Given the description of an element on the screen output the (x, y) to click on. 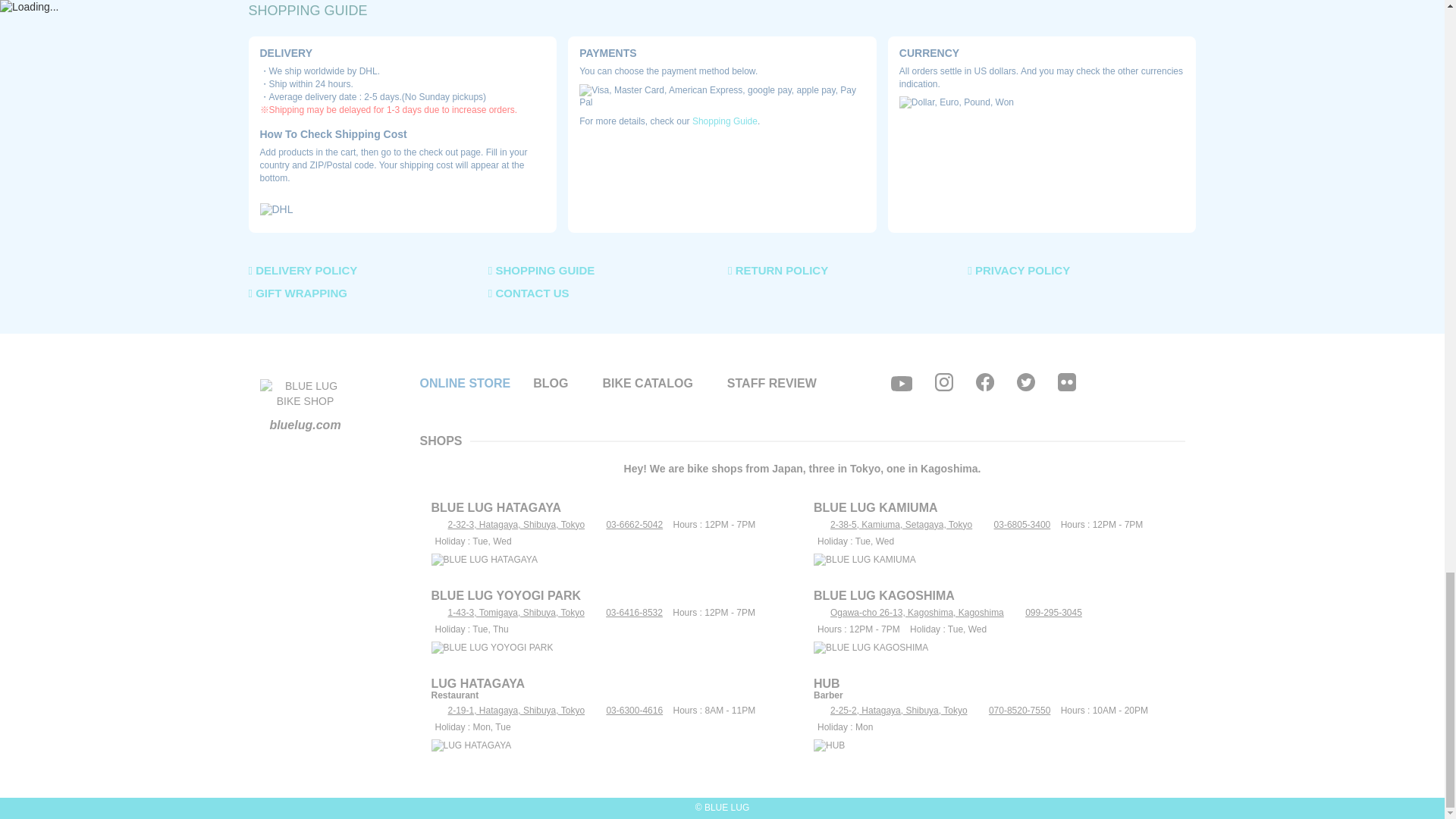
Facebook (984, 382)
youtube (901, 383)
flickr (1066, 382)
twitter (1025, 382)
